Given the description of an element on the screen output the (x, y) to click on. 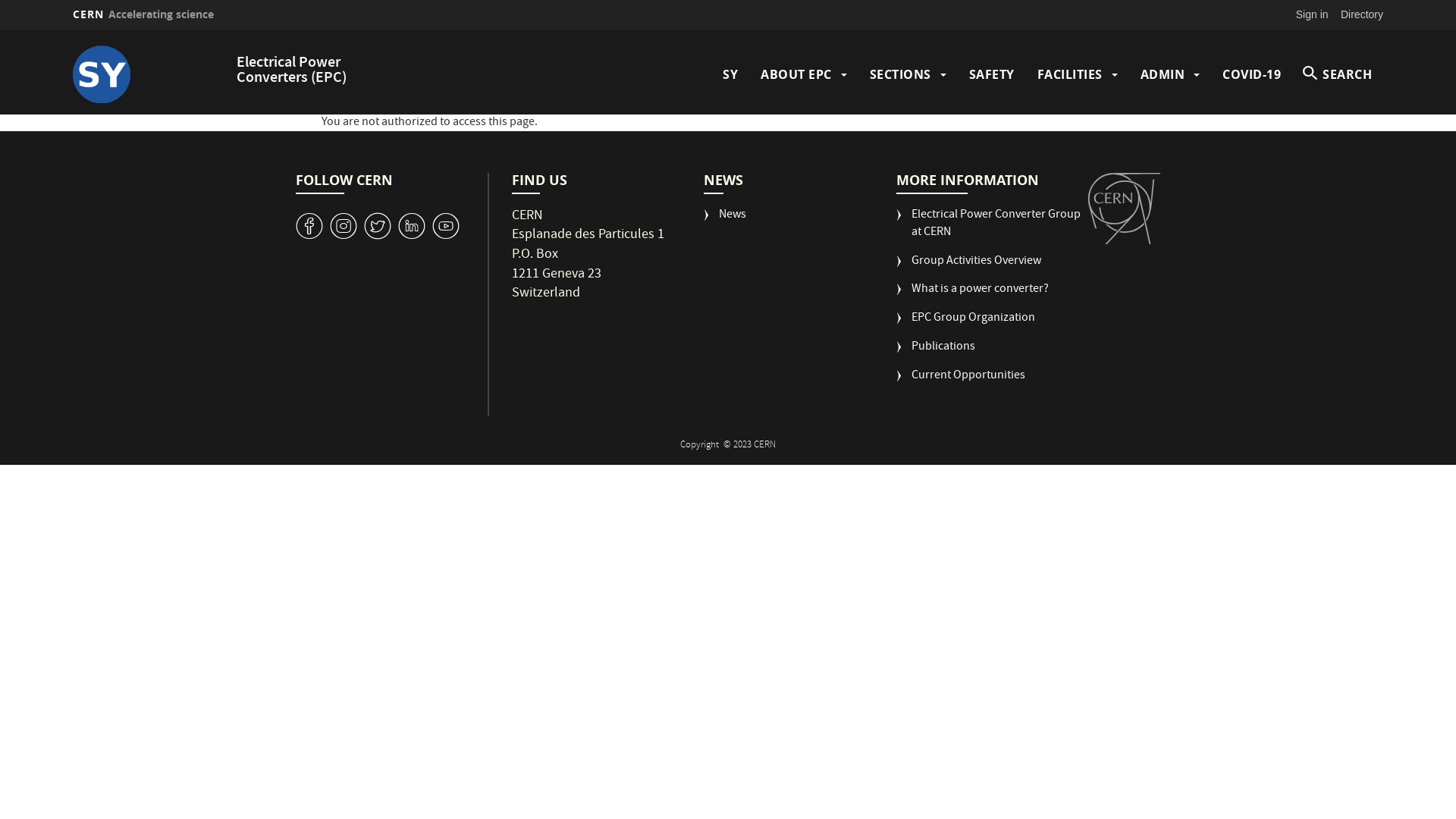
Publications Element type: text (935, 352)
Electrical Power Converters (EPC) Element type: text (291, 70)
EPC Group Organization Element type: text (965, 324)
Copyright Element type: text (700, 445)
What is a power converter? Element type: text (972, 295)
v Element type: text (309, 226)
SAFETY Element type: text (991, 74)
Skip to main content Element type: text (0, 30)
J Element type: text (343, 226)
ABOUT EPC Element type: text (795, 74)
CERN Accelerating science Element type: text (142, 14)
M Element type: text (411, 226)
SY Element type: text (729, 74)
Current Opportunities Element type: text (960, 381)
Group Activities Overview Element type: text (968, 267)
SECTIONS Element type: text (899, 74)
COVID-19 Element type: text (1251, 74)
Electrical Power Converter Group at CERN Element type: text (992, 230)
1 Element type: text (445, 226)
SEARCH Element type: text (1337, 74)
CERN Element type: hover (1124, 208)
Home Element type: hover (150, 74)
FACILITIES Element type: text (1069, 74)
Sign in Element type: text (1311, 14)
W Element type: text (377, 226)
News Element type: text (724, 221)
Directory Element type: text (1361, 14)
